Given the description of an element on the screen output the (x, y) to click on. 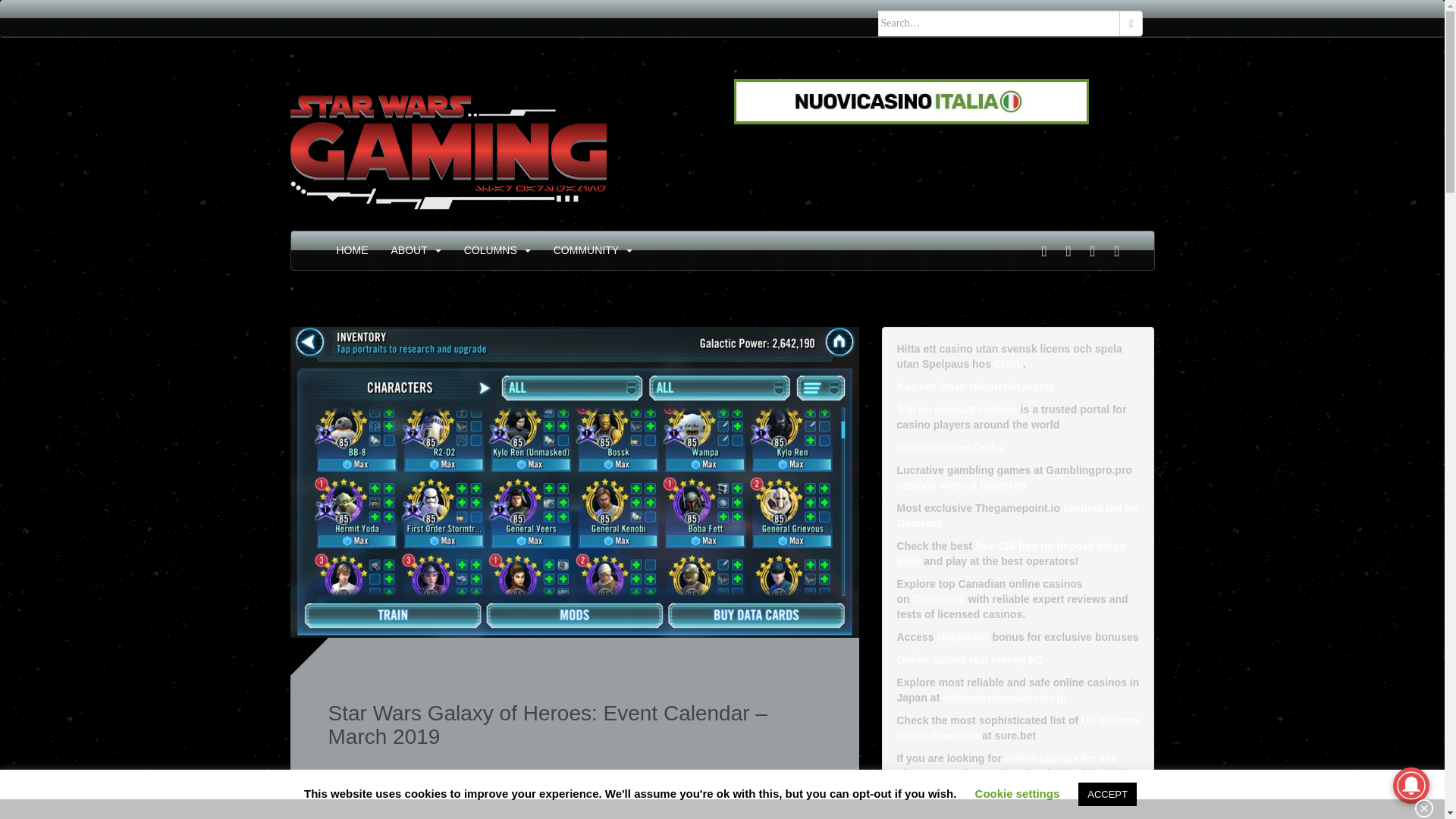
Search for: (999, 23)
ABOUT (409, 249)
Search (1130, 23)
COLUMNS (490, 249)
siti scommesse e bookmakers non ADM AAMS (911, 101)
HOME (352, 249)
COMMUNITY (585, 249)
